Given the description of an element on the screen output the (x, y) to click on. 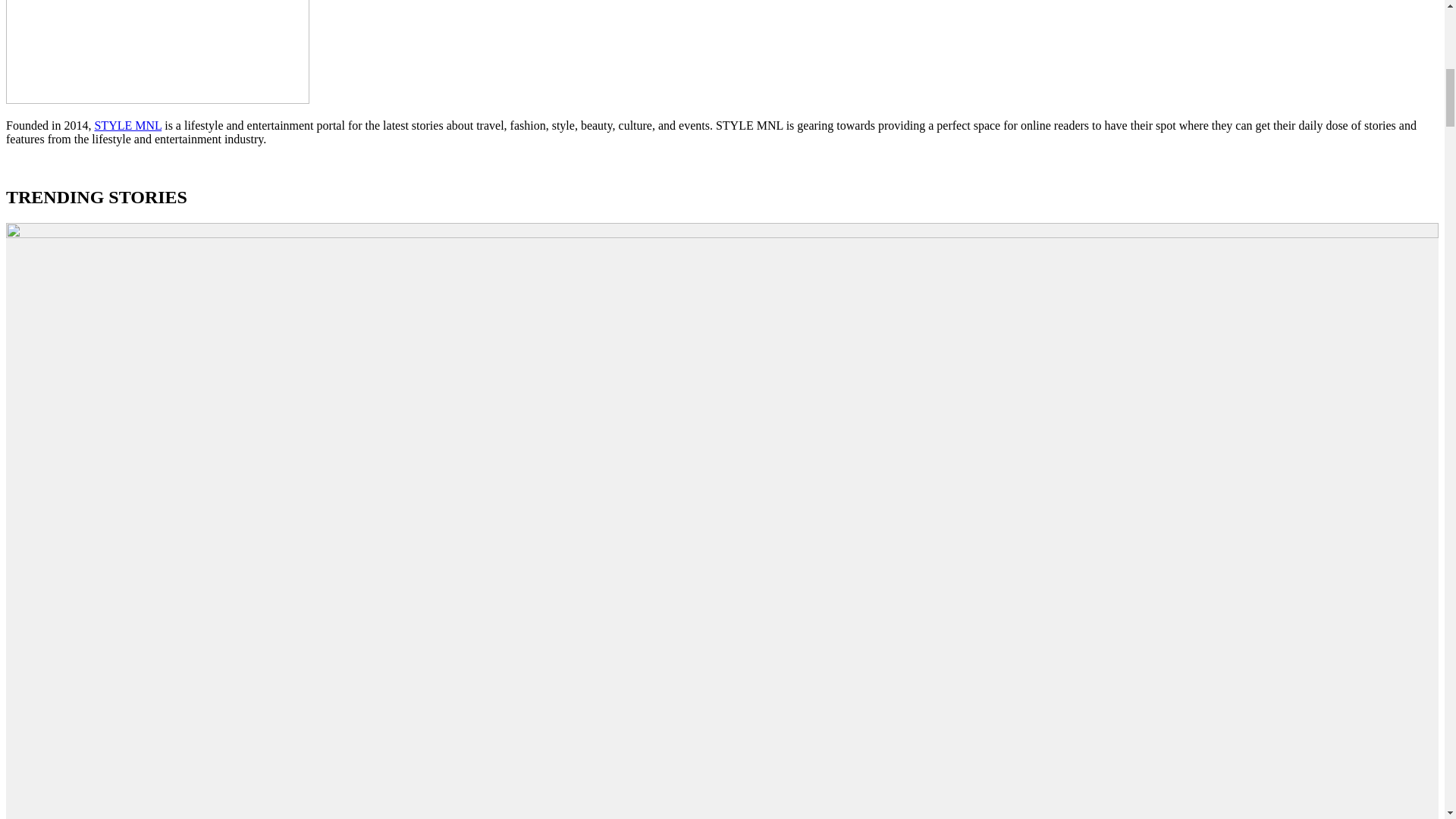
STYLE MNL (127, 124)
